Given the description of an element on the screen output the (x, y) to click on. 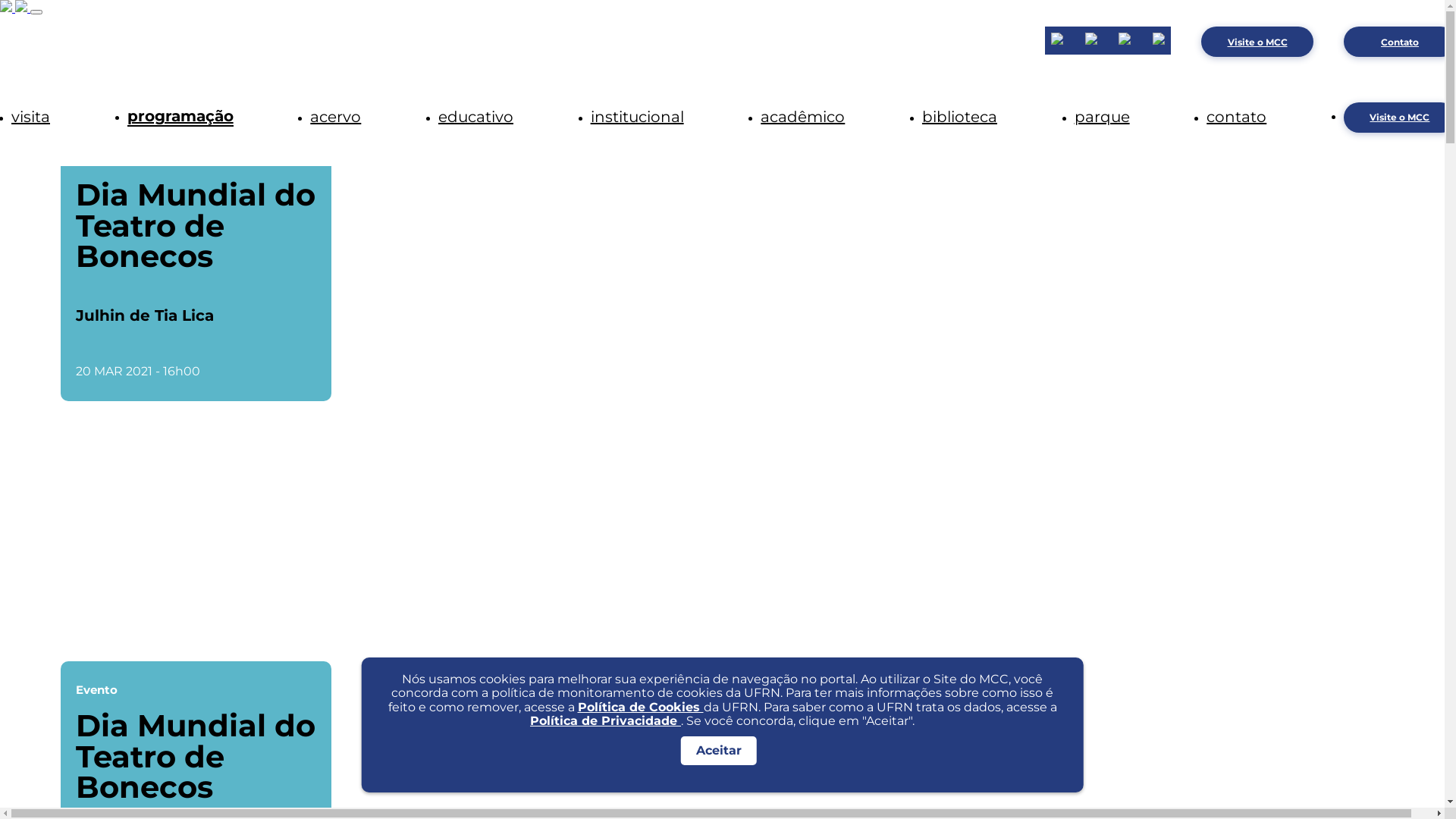
acervo Element type: text (335, 116)
institucional Element type: text (637, 116)
parque Element type: text (1101, 116)
biblioteca Element type: text (959, 116)
contato Element type: text (1236, 116)
Aceitar Element type: text (718, 750)
educativo Element type: text (475, 116)
Visite o MCC Element type: text (1257, 41)
visita Element type: text (30, 116)
